Given the description of an element on the screen output the (x, y) to click on. 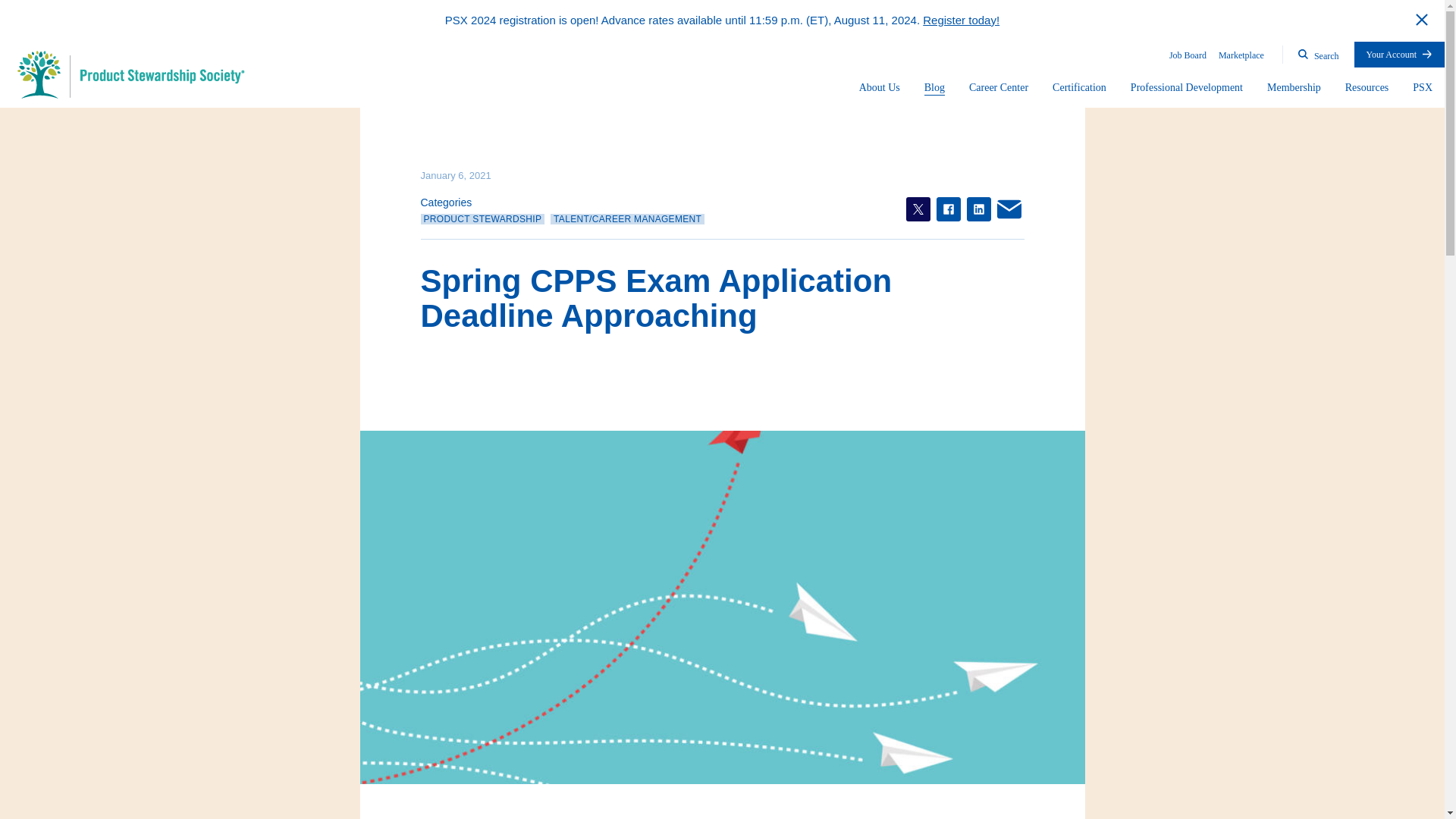
Professional Development (1187, 87)
Professional Development (1187, 87)
Back to Homepage (131, 73)
Certification (1079, 87)
Membership (1293, 87)
Certification (1079, 87)
Marketplace (1240, 54)
Job Board (1187, 54)
About Us (879, 87)
About Us (879, 87)
Career Center (998, 87)
Register today! (960, 19)
Resources (1367, 87)
Marketplace (1240, 54)
